Given the description of an element on the screen output the (x, y) to click on. 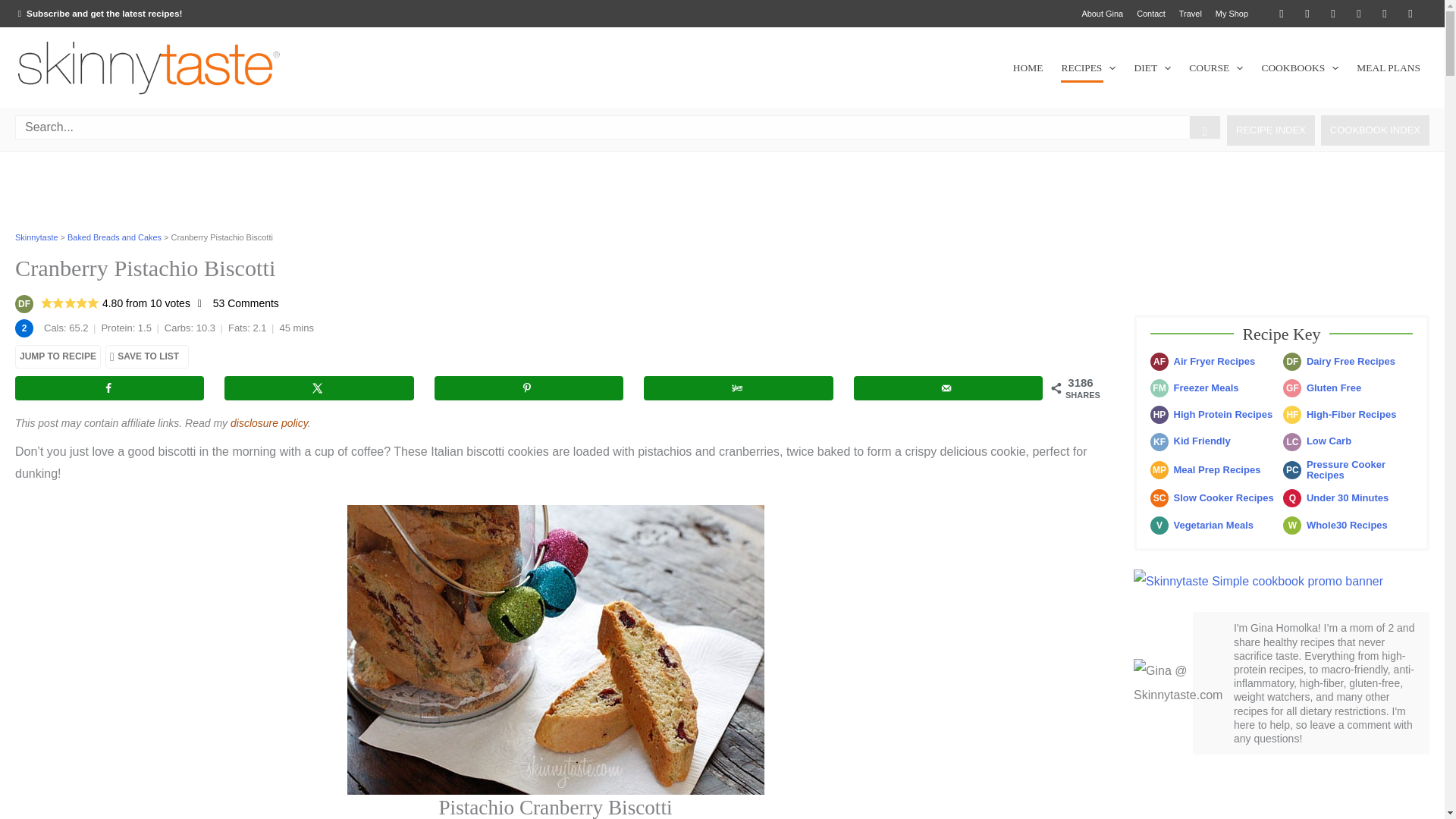
Contact (1150, 13)
My Shop (1231, 13)
Instagram (1359, 13)
Twitter (1280, 13)
HOME (1028, 67)
Travel (1190, 13)
Tiktok (1410, 13)
DIET (1151, 67)
COURSE (1215, 67)
WW Points (23, 328)
Facebook (1307, 13)
Subscribe and get the latest recipes! (98, 13)
About Gina (1101, 13)
Dairy Free Recipes (23, 303)
Youtube (1384, 13)
